Given the description of an element on the screen output the (x, y) to click on. 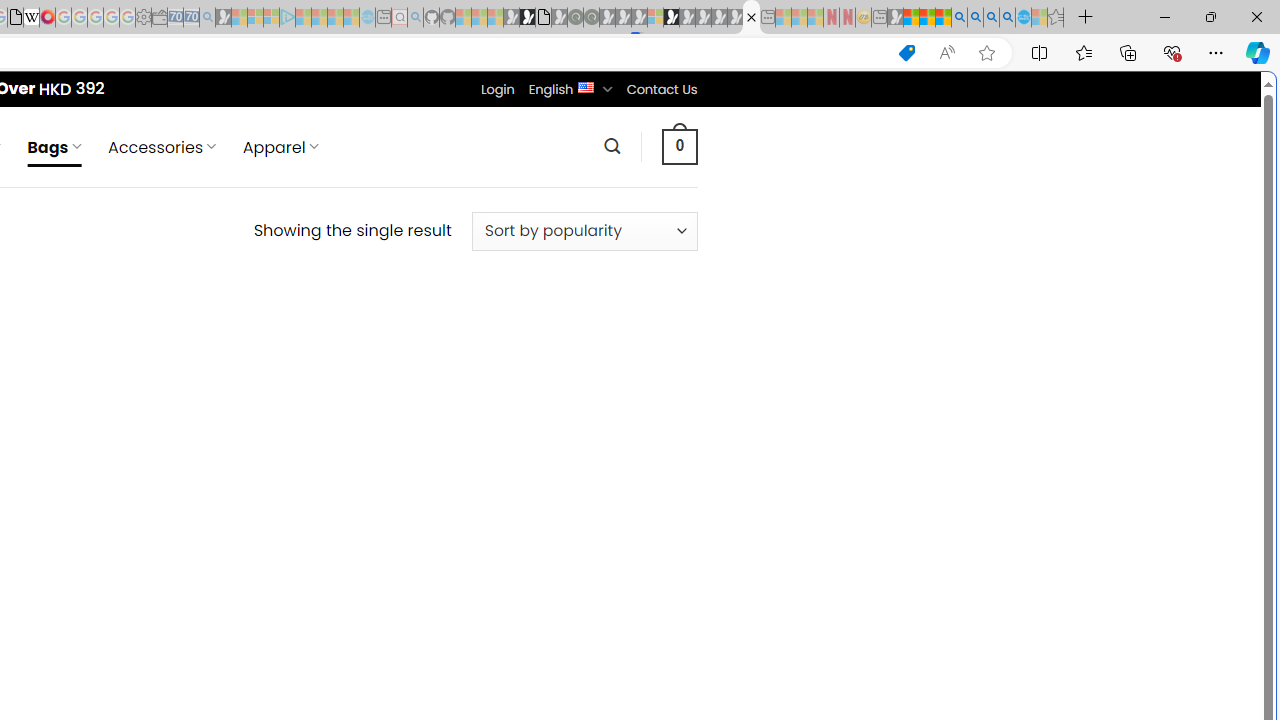
Future Focus Report 2024 - Sleeping (591, 17)
2009 Bing officially replaced Live Search on June 3 - Search (975, 17)
Target page - Wikipedia (31, 17)
